Given the description of an element on the screen output the (x, y) to click on. 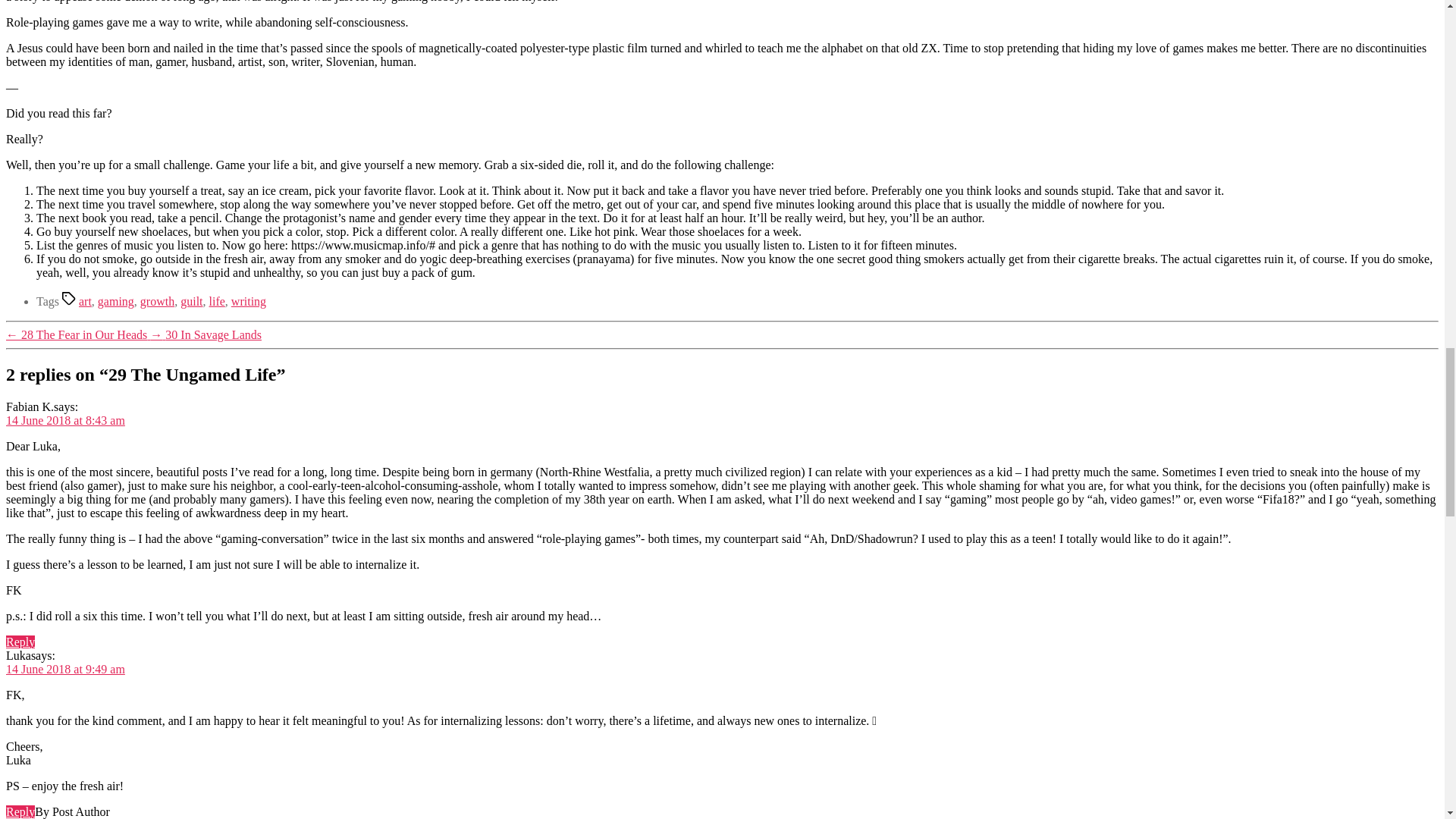
Reply (19, 811)
14 June 2018 at 8:43 am (65, 420)
guilt (191, 300)
14 June 2018 at 9:49 am (65, 668)
growth (156, 300)
life (217, 300)
art (84, 300)
gaming (115, 300)
Reply (19, 811)
Reply (19, 641)
